Given the description of an element on the screen output the (x, y) to click on. 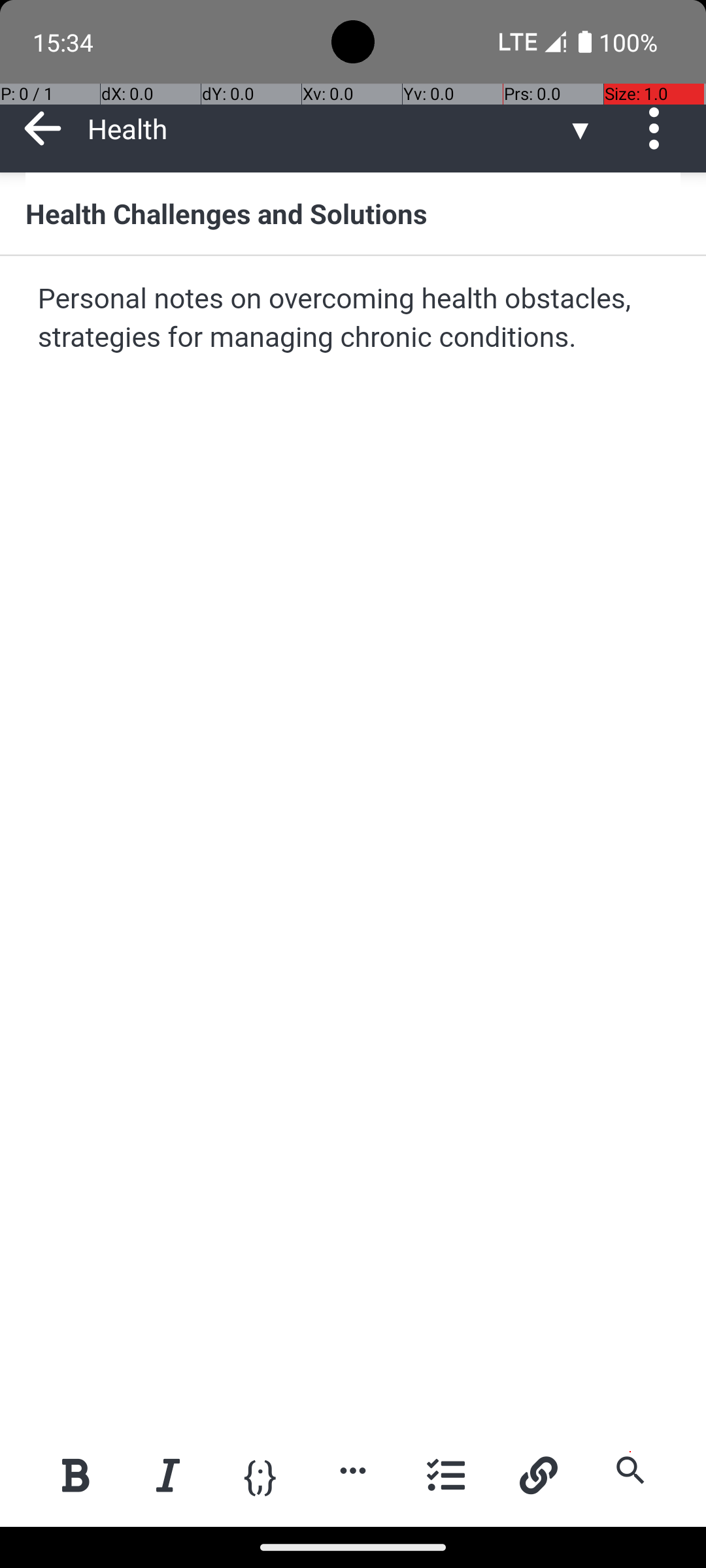
Health Challenges and Solutions Element type: android.widget.EditText (352, 213)
Personal notes on overcoming health obstacles, strategies for managing chronic conditions. Element type: android.widget.EditText (354, 318)
